Given the description of an element on the screen output the (x, y) to click on. 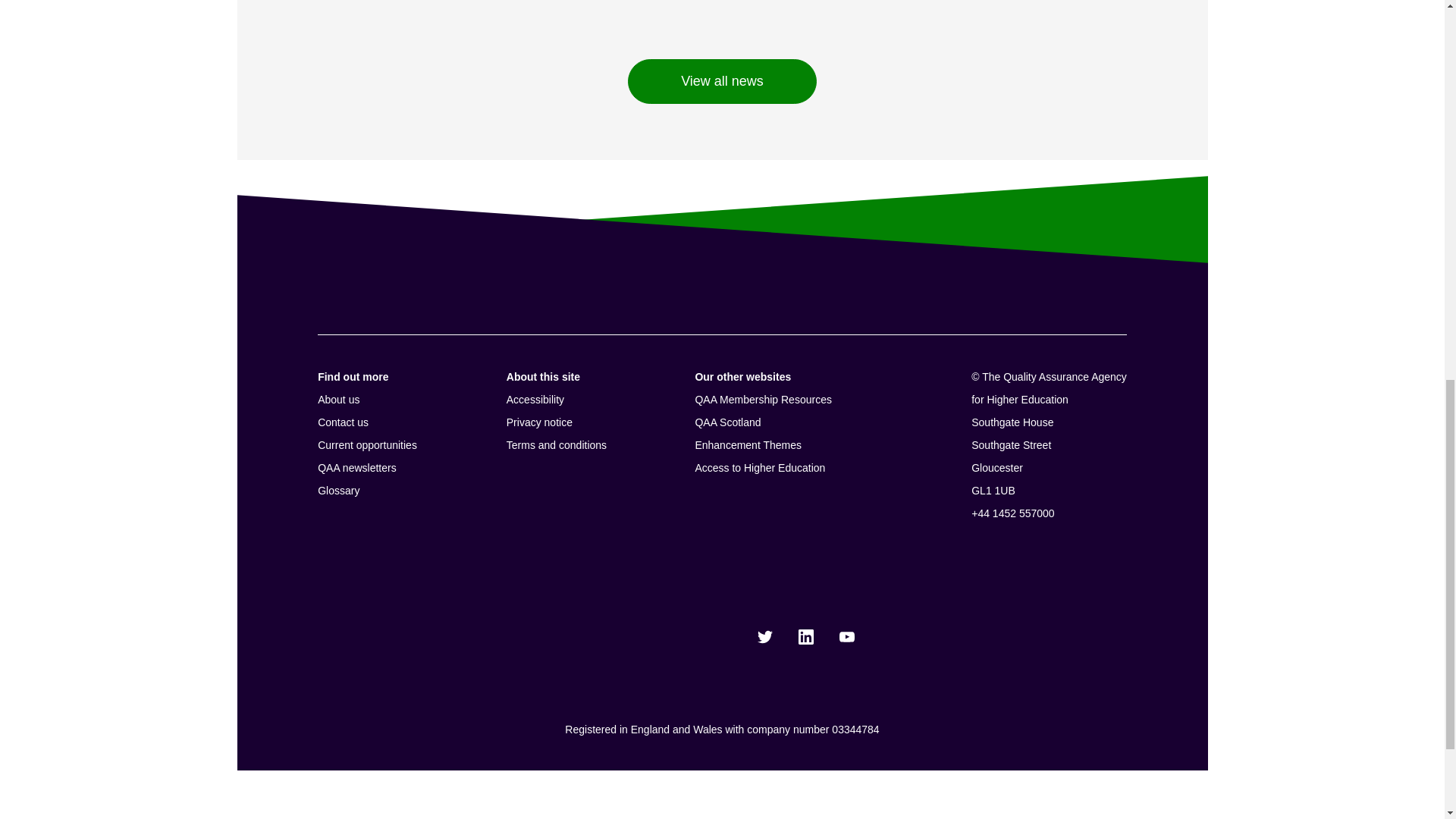
change your settings (710, 60)
cookie policy (453, 23)
Accept (1035, 42)
